Given the description of an element on the screen output the (x, y) to click on. 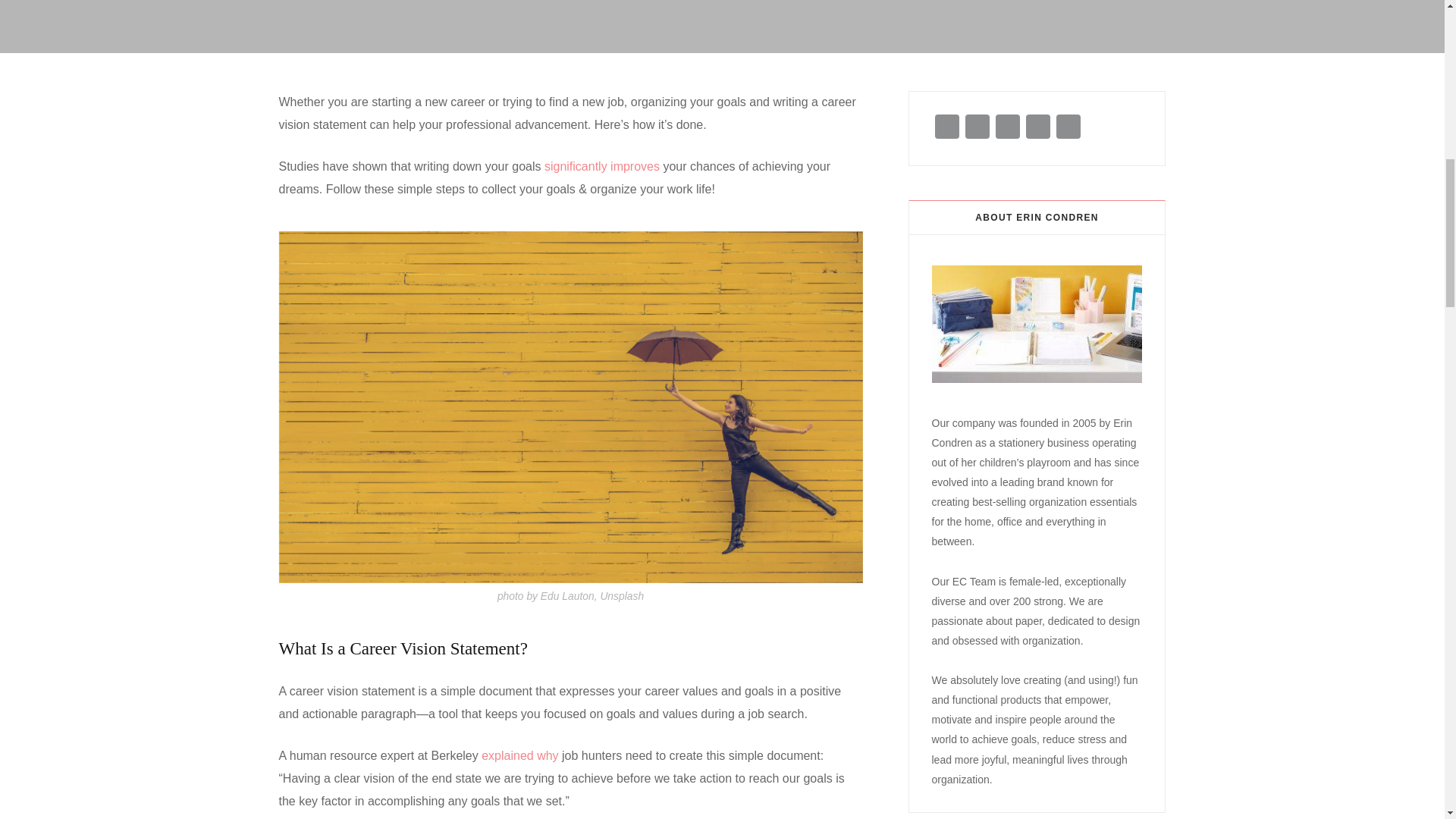
significantly improves (601, 165)
Facebook (945, 128)
explained why (519, 755)
Twitter (975, 128)
